Given the description of an element on the screen output the (x, y) to click on. 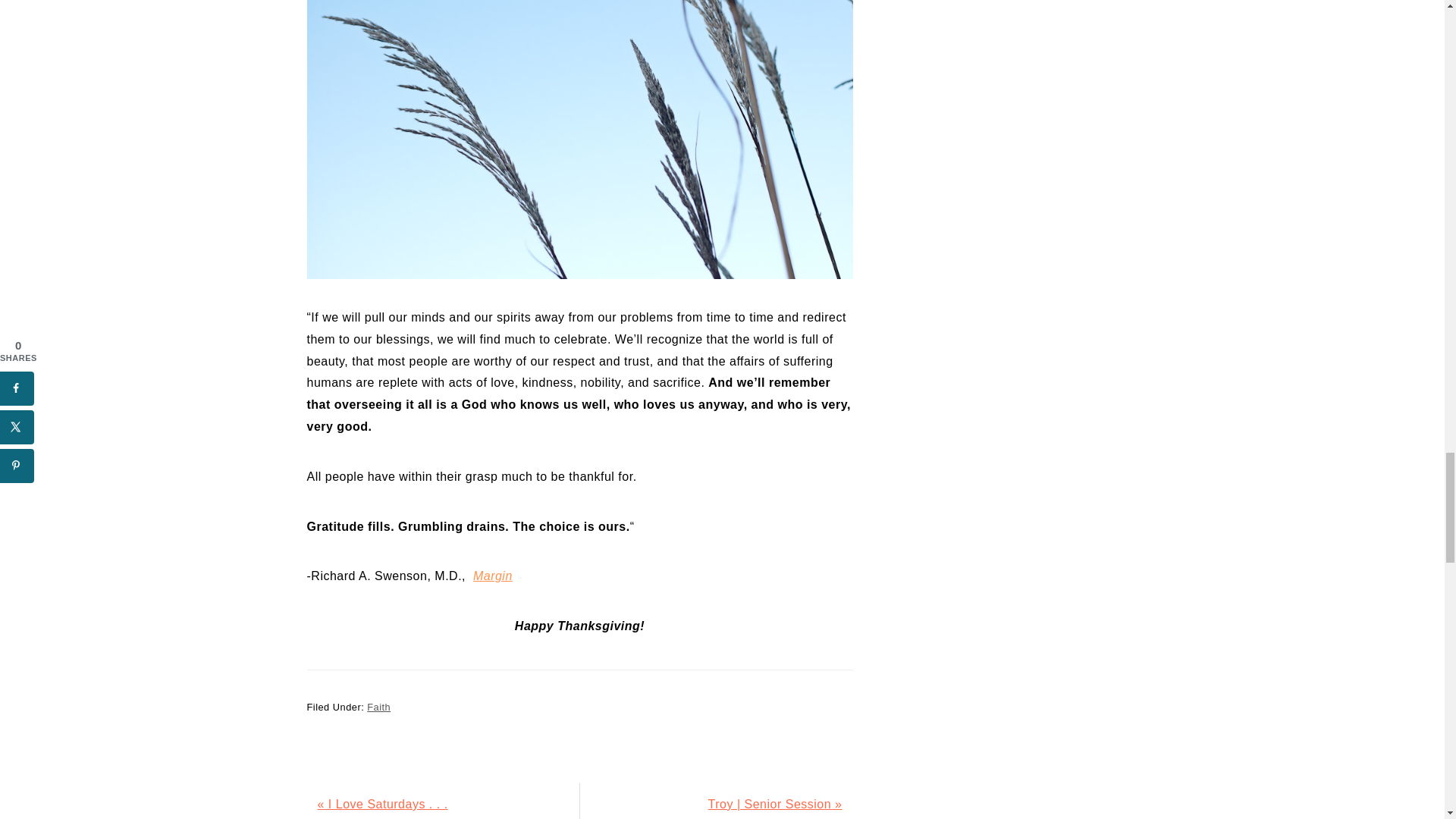
Faith (378, 706)
Margin (492, 575)
Margin (492, 575)
